Given the description of an element on the screen output the (x, y) to click on. 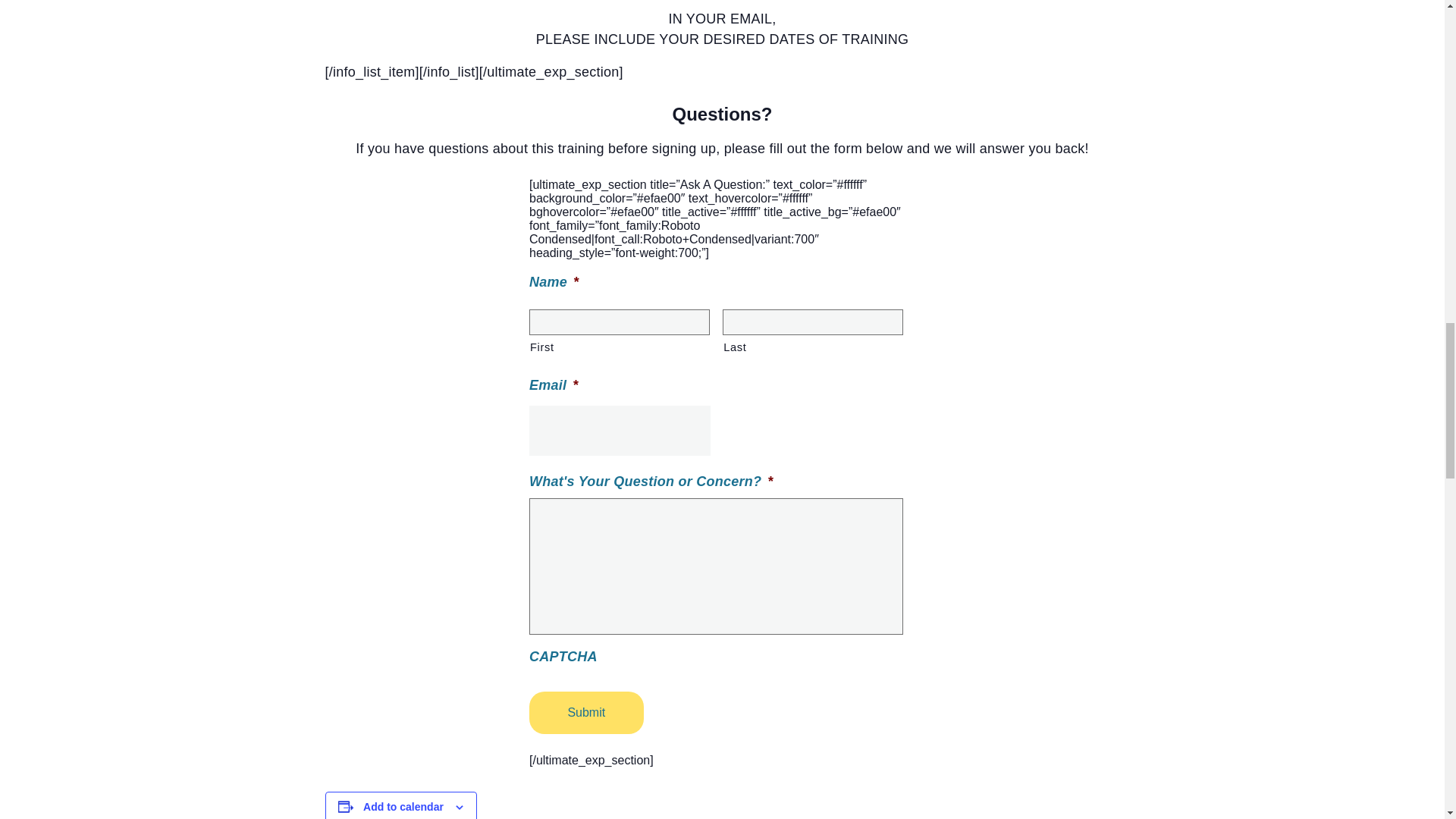
Submit (586, 712)
